Given the description of an element on the screen output the (x, y) to click on. 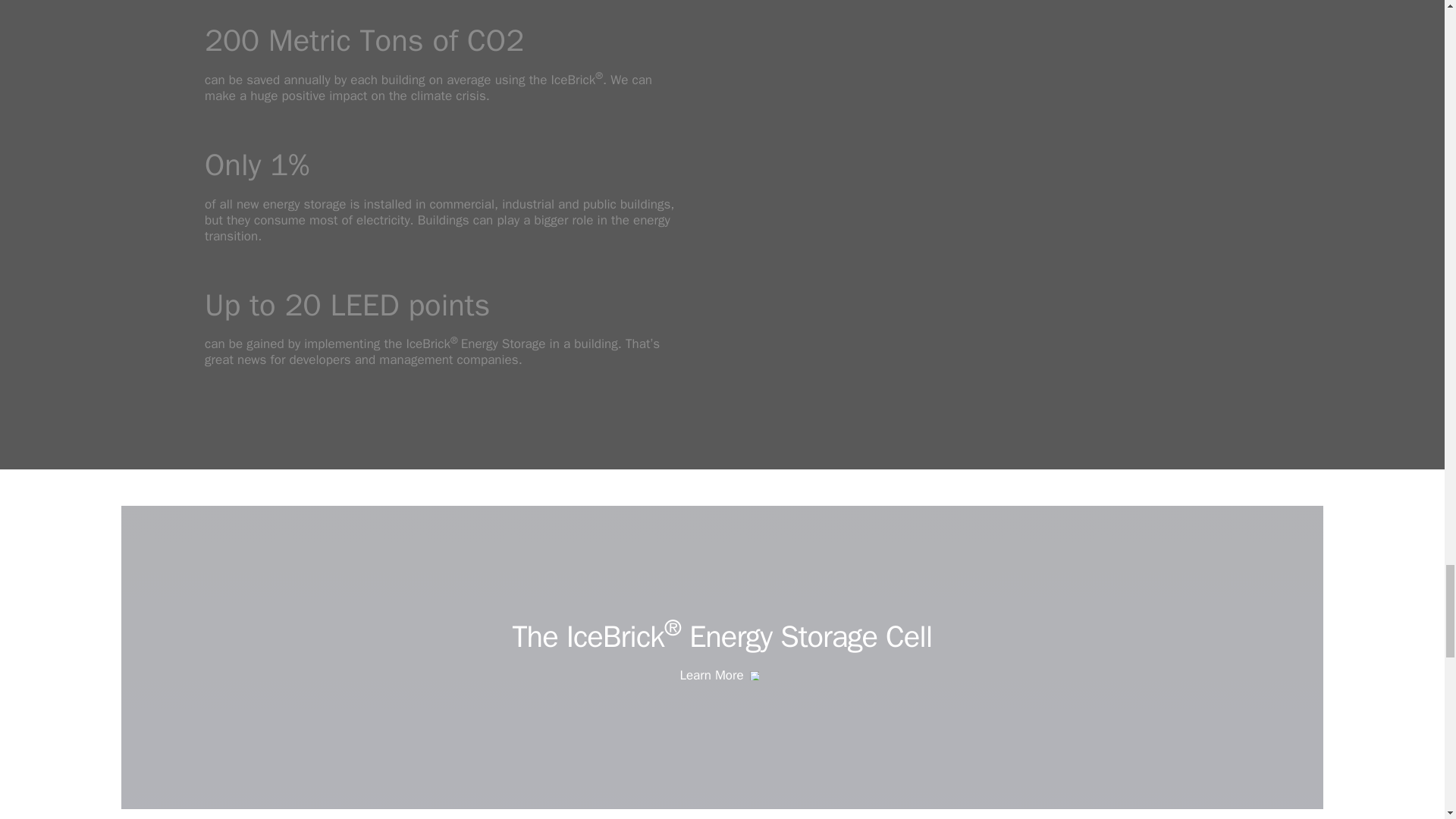
Learn More (721, 676)
